Given the description of an element on the screen output the (x, y) to click on. 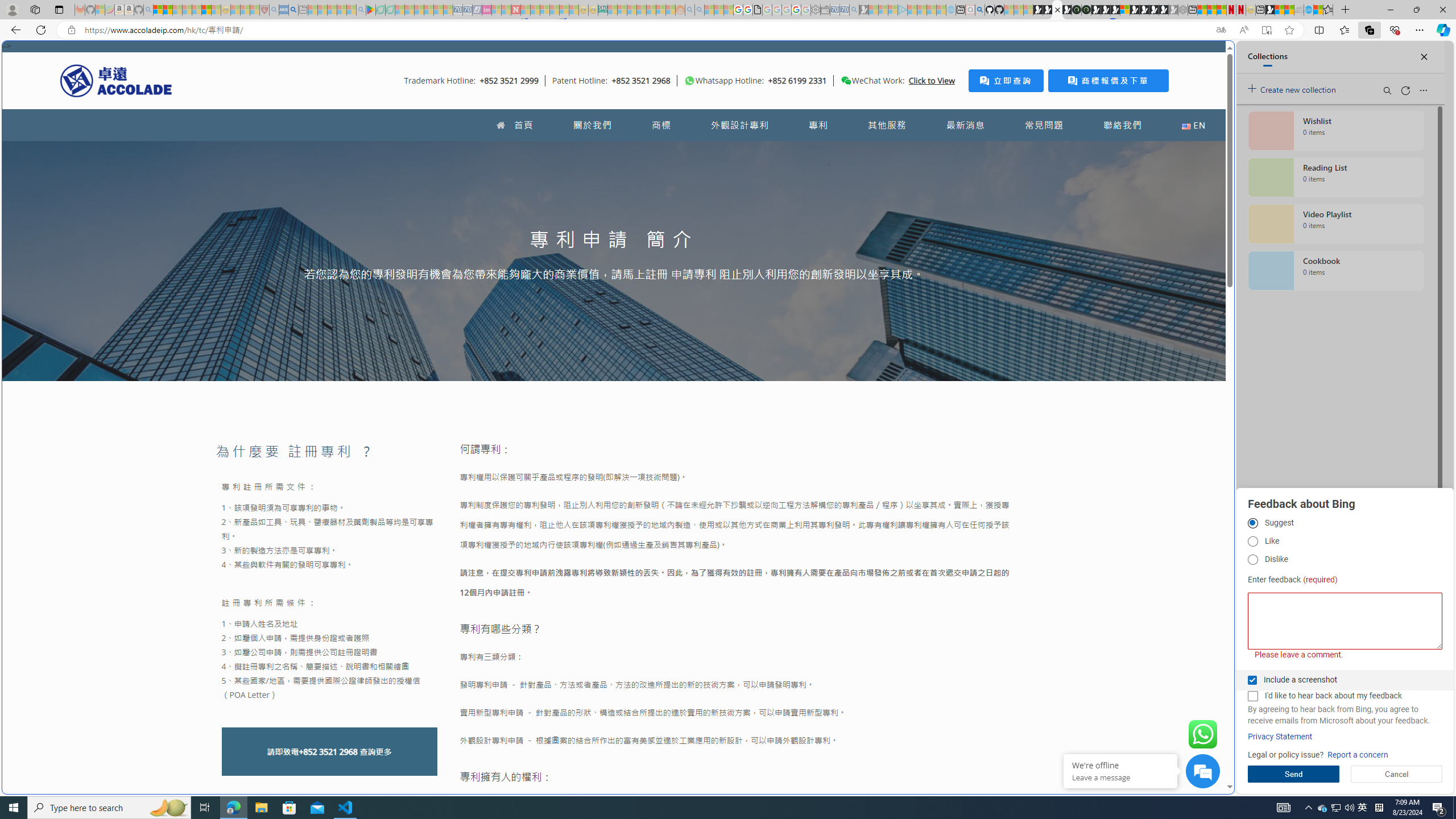
EN (1193, 124)
Jobs - lastminute.com Investor Portal - Sleeping (486, 9)
google - Search - Sleeping (360, 9)
Play Cave FRVR in your browser | Games from Microsoft Start (1105, 9)
Cancel (1396, 773)
